Given the description of an element on the screen output the (x, y) to click on. 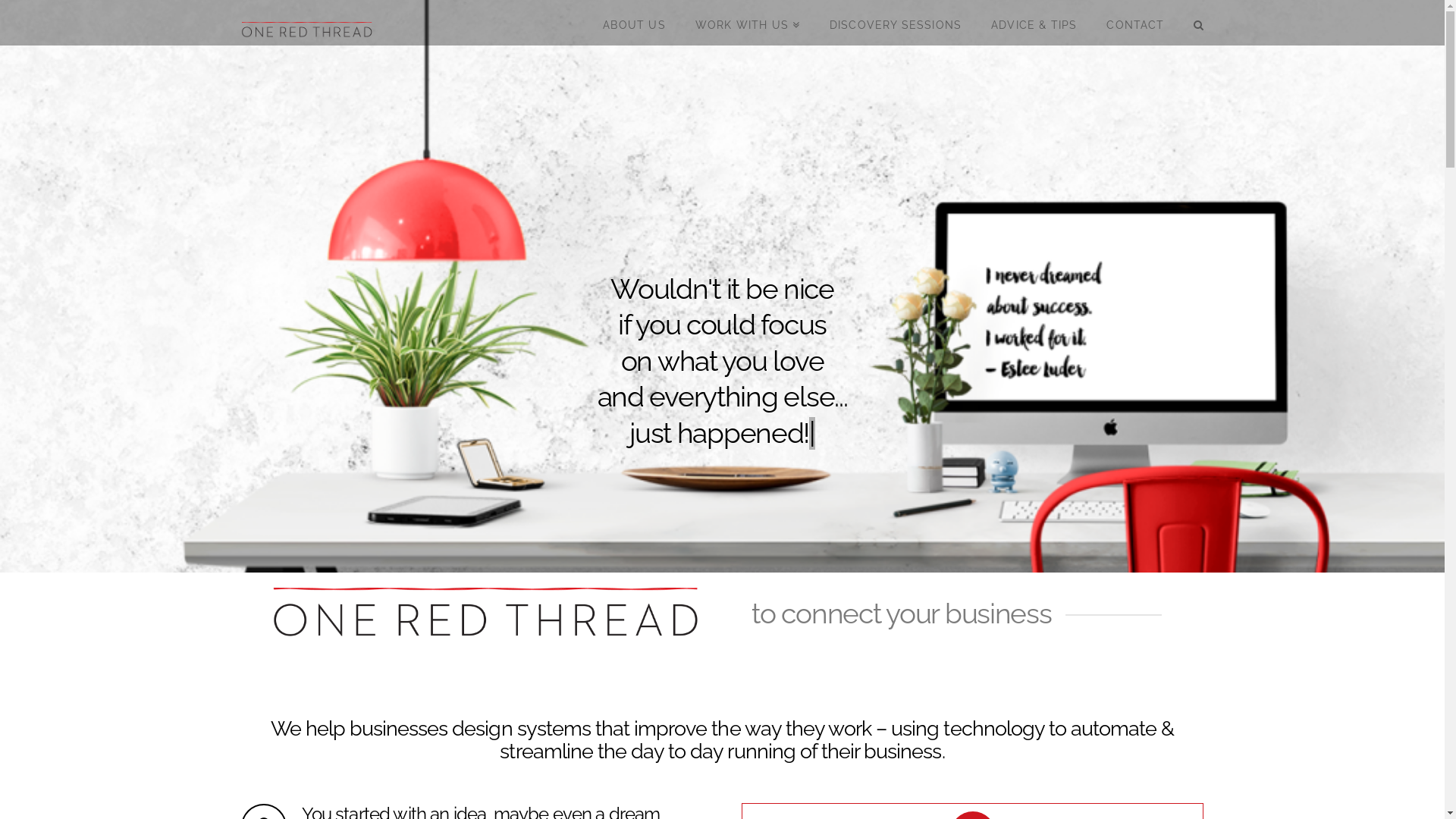
Work Smarter & Simplify your life Element type: hover (307, 24)
WORK WITH US Element type: text (747, 22)
ABOUT US Element type: text (633, 22)
ADVICE & TIPS Element type: text (1033, 22)
DISCOVERY SESSIONS Element type: text (894, 22)
CONTACT Element type: text (1134, 22)
